Given the description of an element on the screen output the (x, y) to click on. 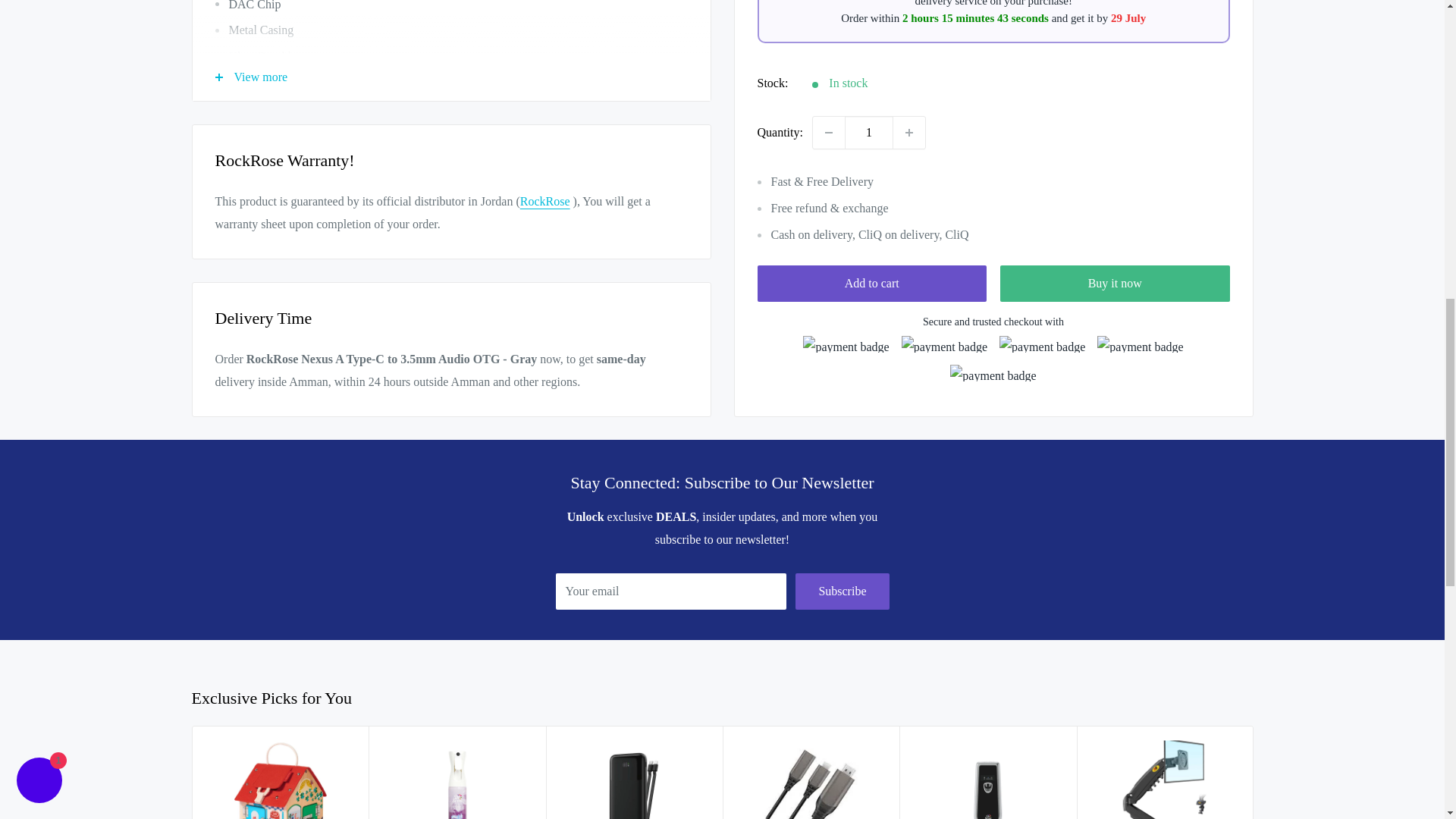
RockRose (544, 201)
